Given the description of an element on the screen output the (x, y) to click on. 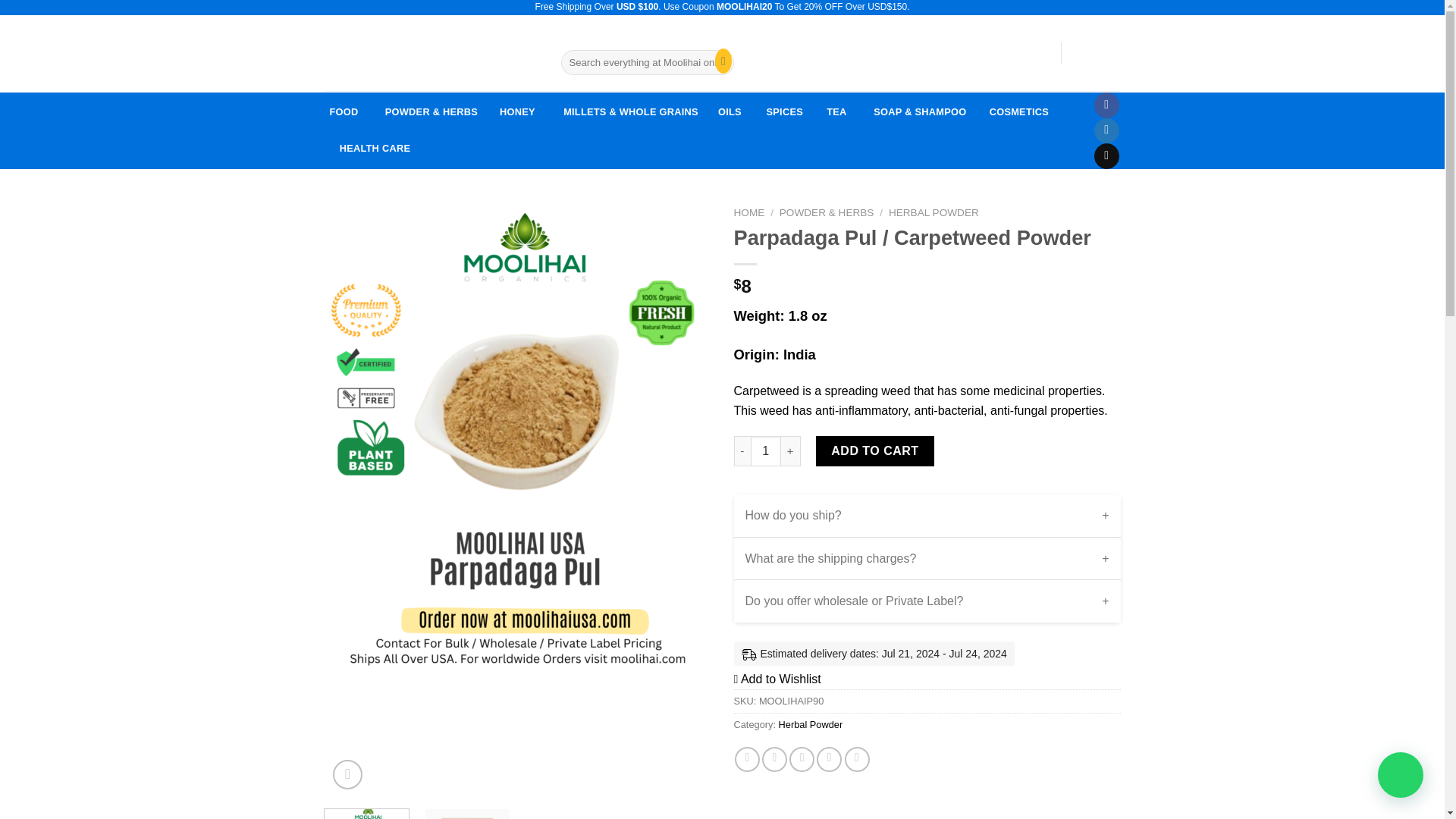
Email to a Friend (801, 759)
Share on Facebook (747, 759)
OILS (729, 112)
Zoom (347, 774)
HONEY (517, 112)
Cart (1098, 52)
COSMETICS (1018, 112)
1 (765, 450)
SPICES (784, 112)
Pin on Pinterest (828, 759)
Track Order (670, 40)
Search (719, 62)
Share on LinkedIn (856, 759)
Send us an email (1106, 155)
Follow on Twitter (1106, 130)
